Given the description of an element on the screen output the (x, y) to click on. 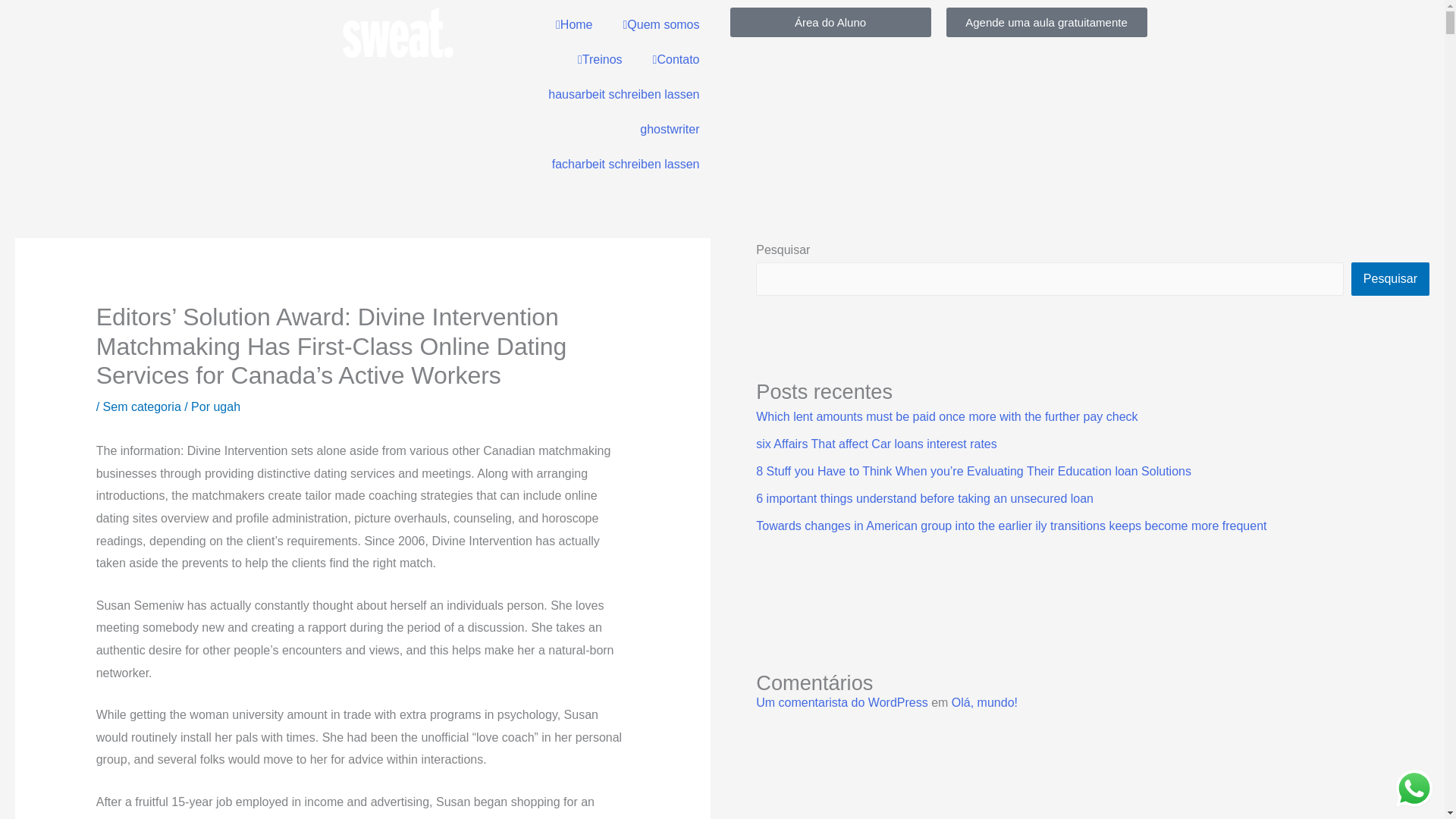
Agende uma aula gratuitamente (1046, 21)
Quem somos (661, 24)
Sem categoria (141, 406)
Home (574, 24)
Contato (675, 59)
ghostwriter (669, 129)
Pesquisar (1390, 278)
Ver todos os posts de ugah (226, 406)
hausarbeit schreiben lassen (623, 94)
ugah (226, 406)
facharbeit schreiben lassen (625, 164)
Treinos (599, 59)
